Given the description of an element on the screen output the (x, y) to click on. 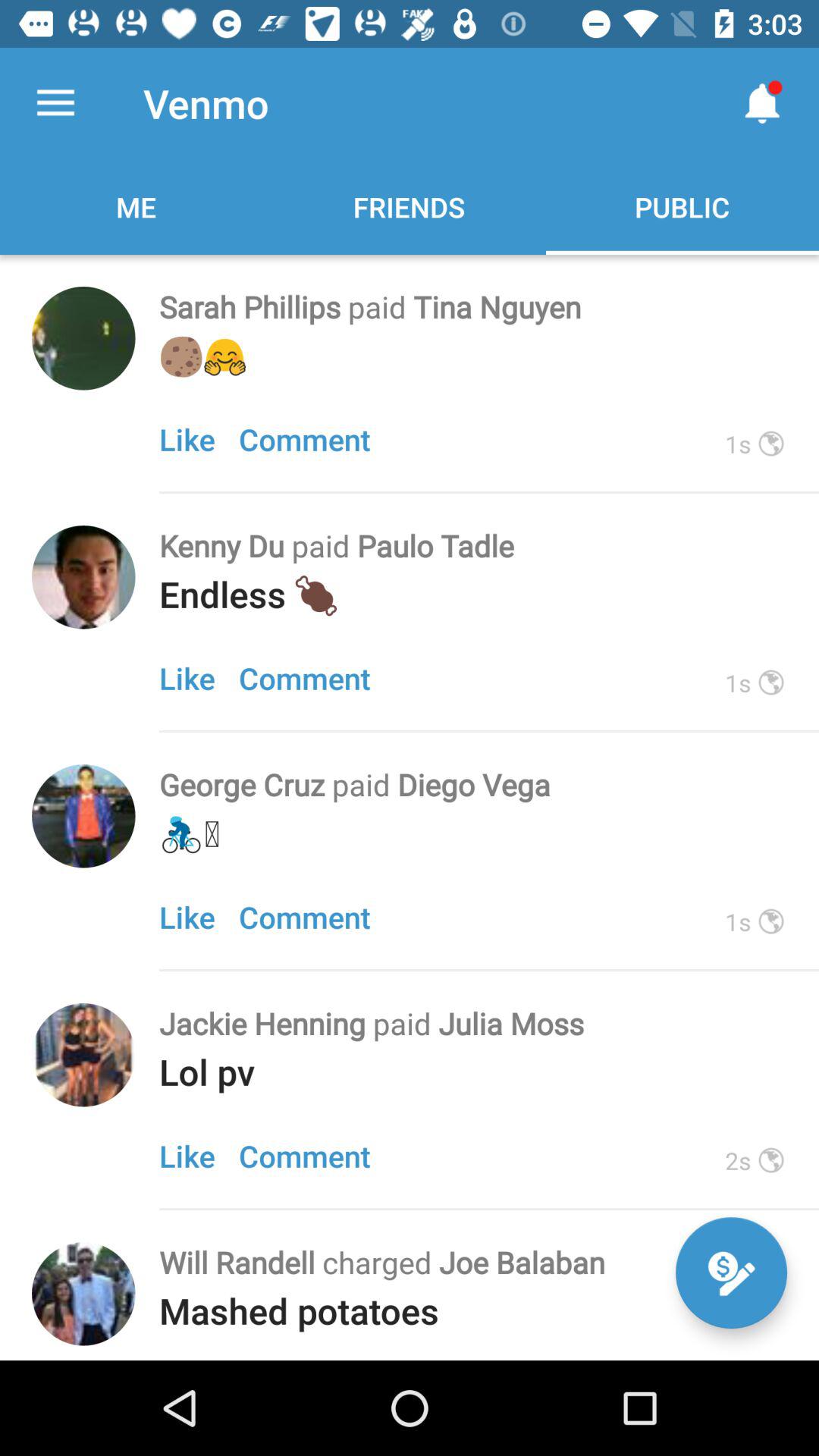
send money (731, 1272)
